Given the description of an element on the screen output the (x, y) to click on. 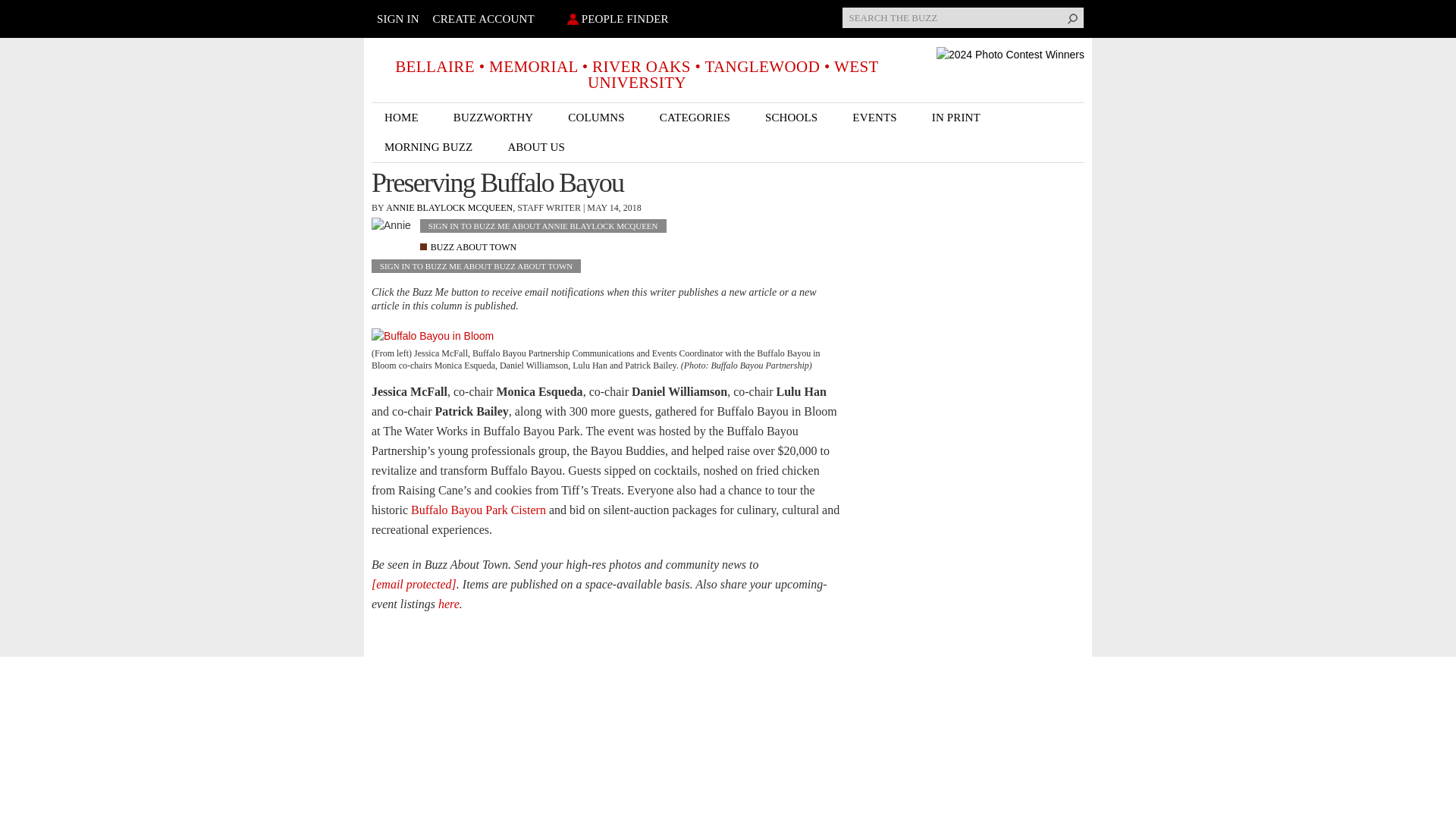
Buffalo Bayou in Bloom (432, 335)
Annie (390, 231)
CREATE ACCOUNT (483, 19)
EVENTS (879, 117)
HOME (406, 117)
Skip to main content (696, 1)
2024 Photo Contest Winners (1010, 54)
Enter the terms you wish to search for. (963, 17)
SIGN IN (398, 19)
PEOPLE FINDER (615, 19)
